Given the description of an element on the screen output the (x, y) to click on. 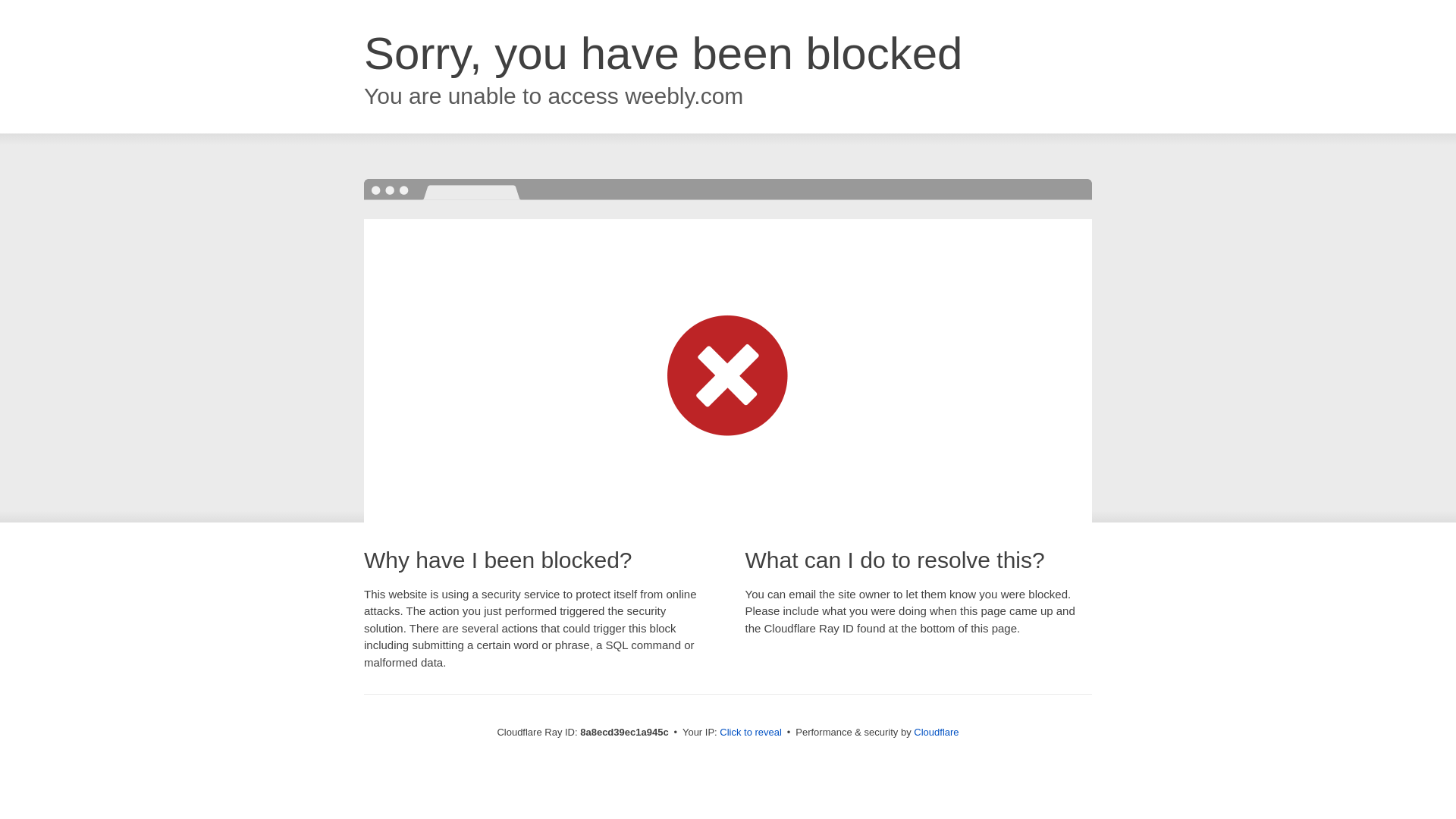
Click to reveal (750, 732)
Cloudflare (936, 731)
